Given the description of an element on the screen output the (x, y) to click on. 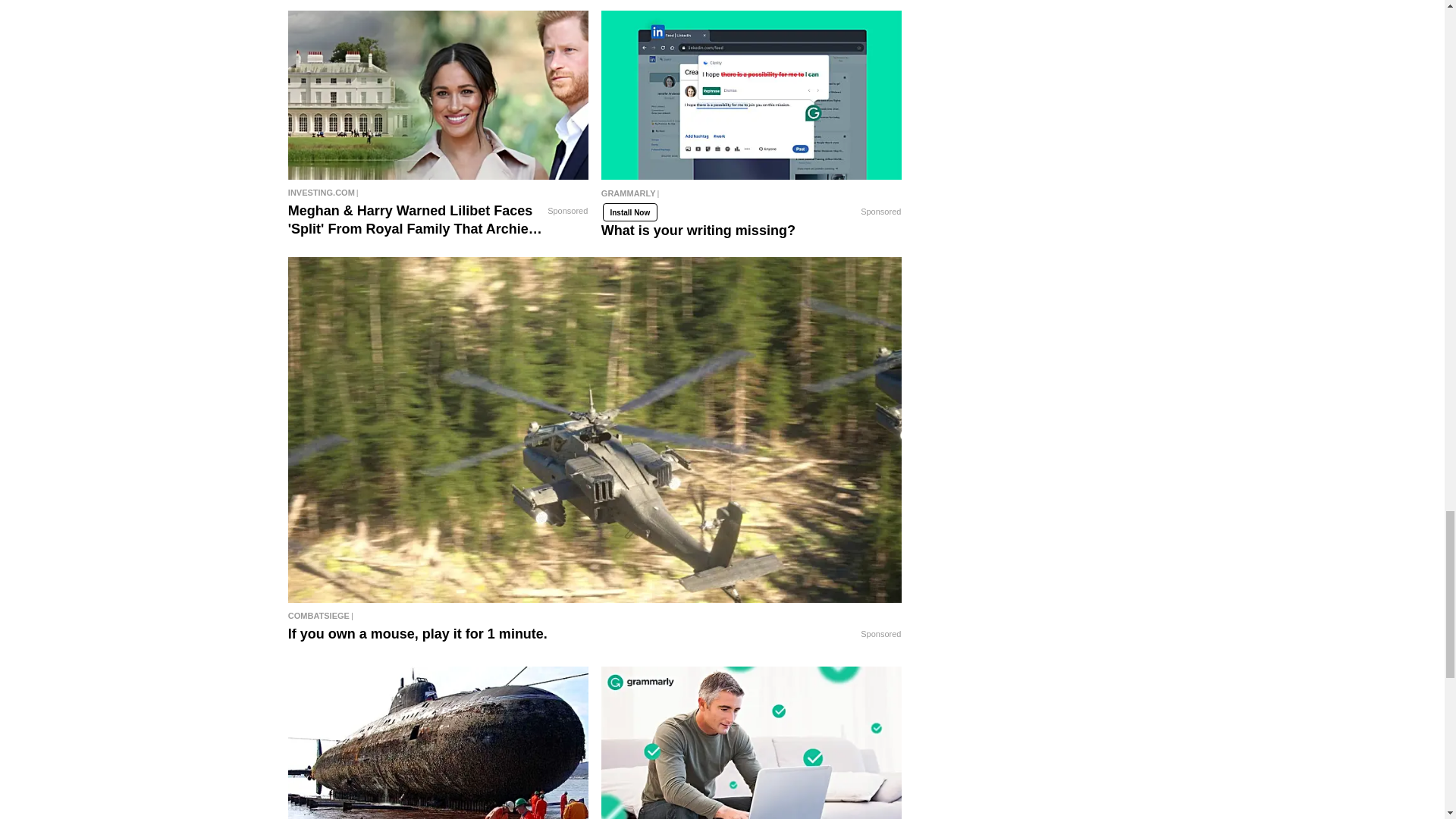
What is your writing missing? (751, 94)
What is your writing missing? (751, 199)
Decades Later Submarine Found, They Looked Inside (438, 742)
If you own a mouse, play it for 1 minute. (595, 615)
Write Better and Faster With This Desktop App (751, 742)
